Given the description of an element on the screen output the (x, y) to click on. 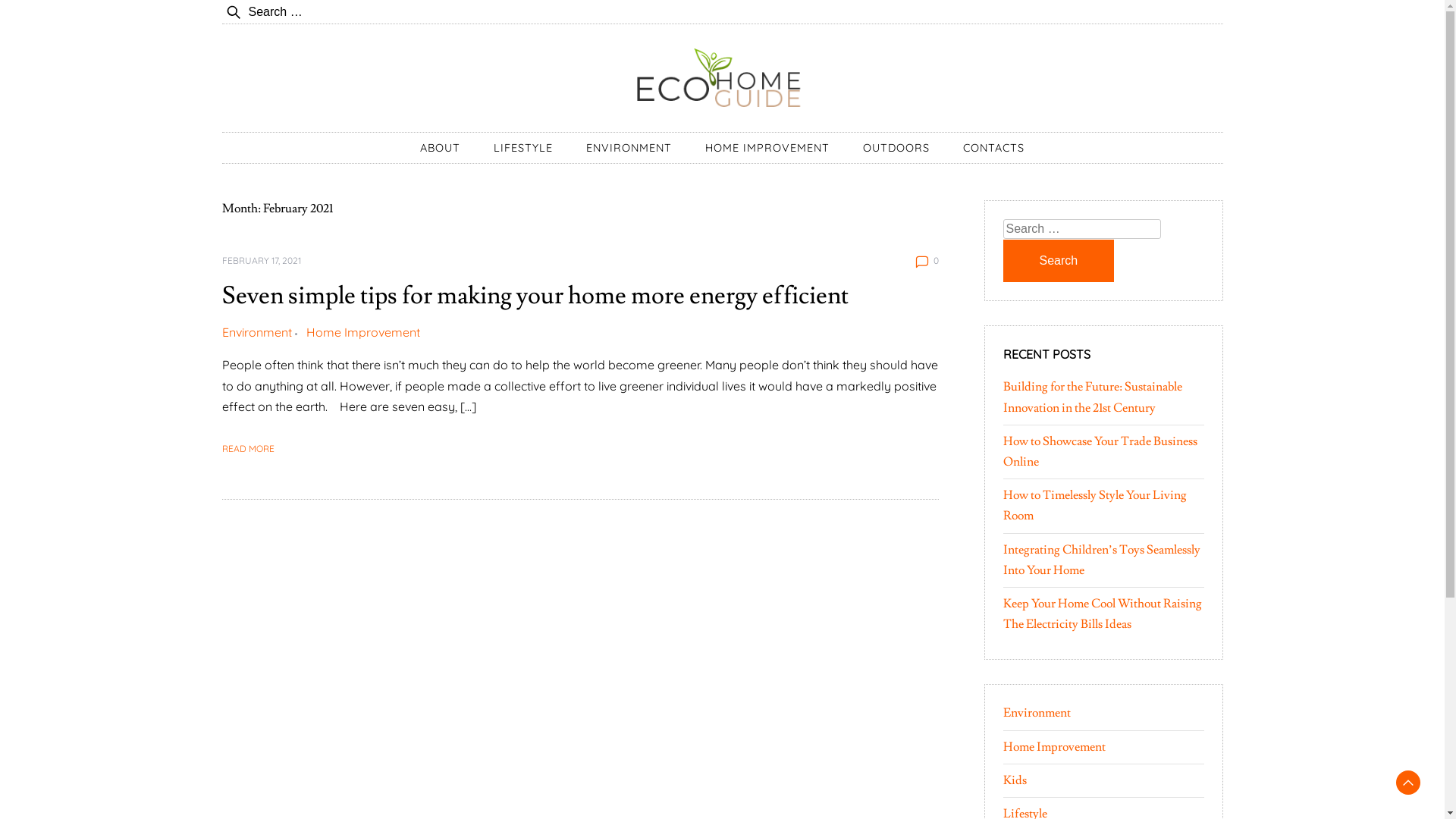
Home Improvement Element type: text (1053, 745)
Seven simple tips for making your home more energy efficient Element type: text (534, 295)
CONTACTS Element type: text (993, 147)
ENVIRONMENT Element type: text (629, 147)
How to Timelessly Style Your Living Room Element type: text (1094, 505)
READ MORE Element type: text (247, 448)
ABOUT Element type: text (439, 147)
Search Element type: text (55, 21)
OUTDOORS Element type: text (895, 147)
Kids Element type: text (1014, 779)
LIFESTYLE Element type: text (522, 147)
Environment Element type: text (260, 332)
Home Improvement Element type: text (363, 332)
0 Element type: text (935, 260)
How to Showcase Your Trade Business Online Element type: text (1099, 451)
Environment Element type: text (1036, 712)
HOME IMPROVEMENT Element type: text (767, 147)
Search Element type: text (1057, 260)
FEBRUARY 17, 2021 Element type: text (260, 260)
